Given the description of an element on the screen output the (x, y) to click on. 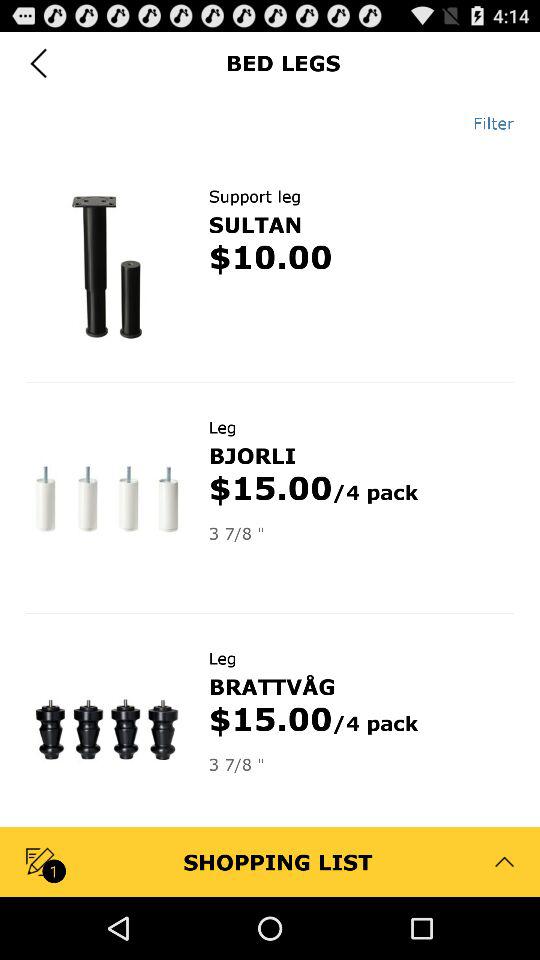
scroll until bjorli icon (252, 455)
